Given the description of an element on the screen output the (x, y) to click on. 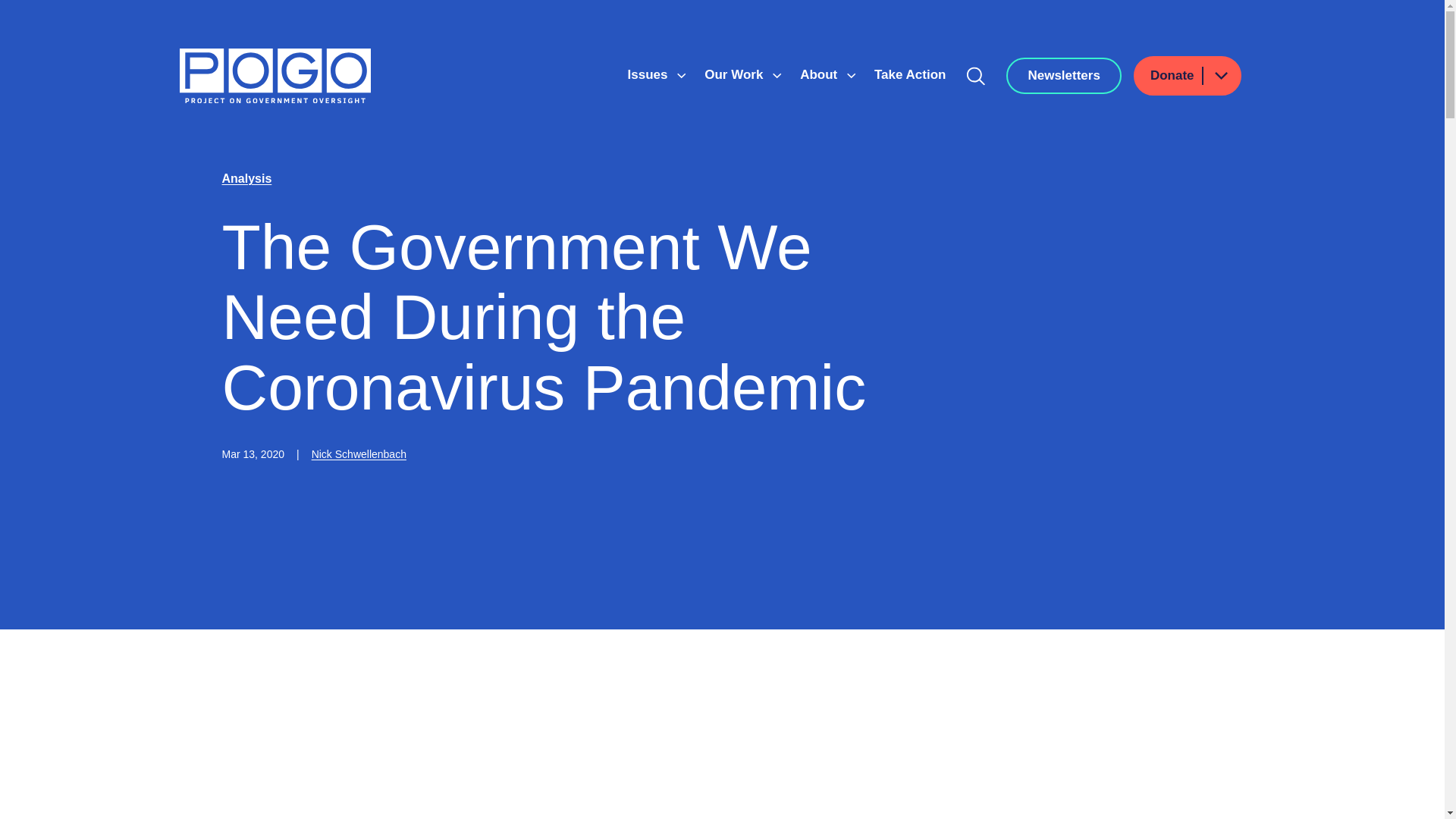
Show submenu for Issues (681, 75)
Show submenu for Donate (1220, 75)
Issues (649, 74)
Take Action (909, 74)
Show submenu for About (851, 75)
About (820, 74)
Home (274, 75)
Donate (1187, 75)
Our Work (735, 74)
Search (976, 75)
